Given the description of an element on the screen output the (x, y) to click on. 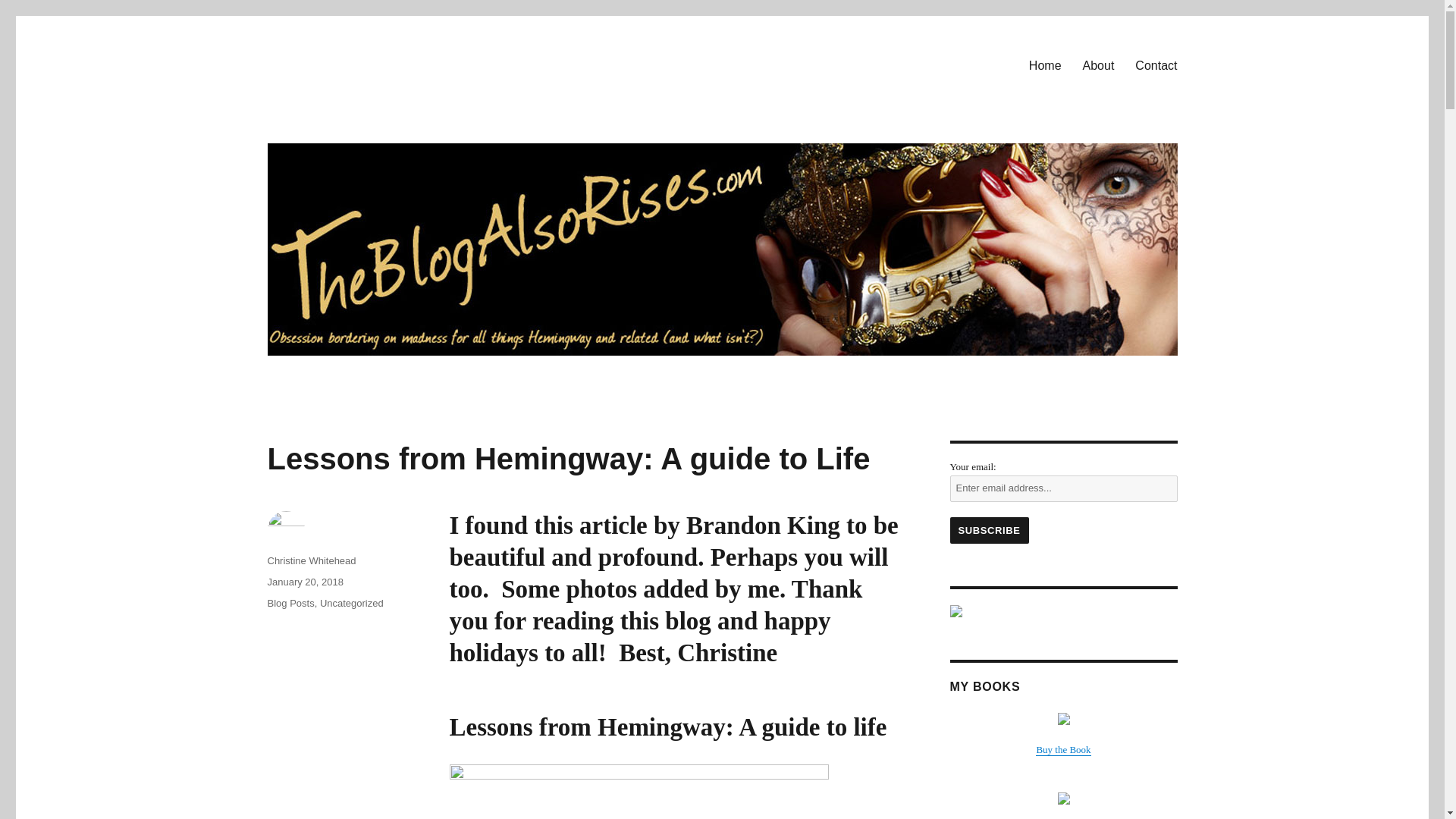
Buy the Book (1062, 749)
Uncategorized (352, 603)
Blog Posts (290, 603)
About (1098, 65)
January 20, 2018 (304, 582)
Christine Whitehead (310, 560)
Subscribe (988, 529)
Home (1044, 65)
Contact (1156, 65)
The Blog Also Rises (368, 114)
Subscribe (988, 529)
